Given the description of an element on the screen output the (x, y) to click on. 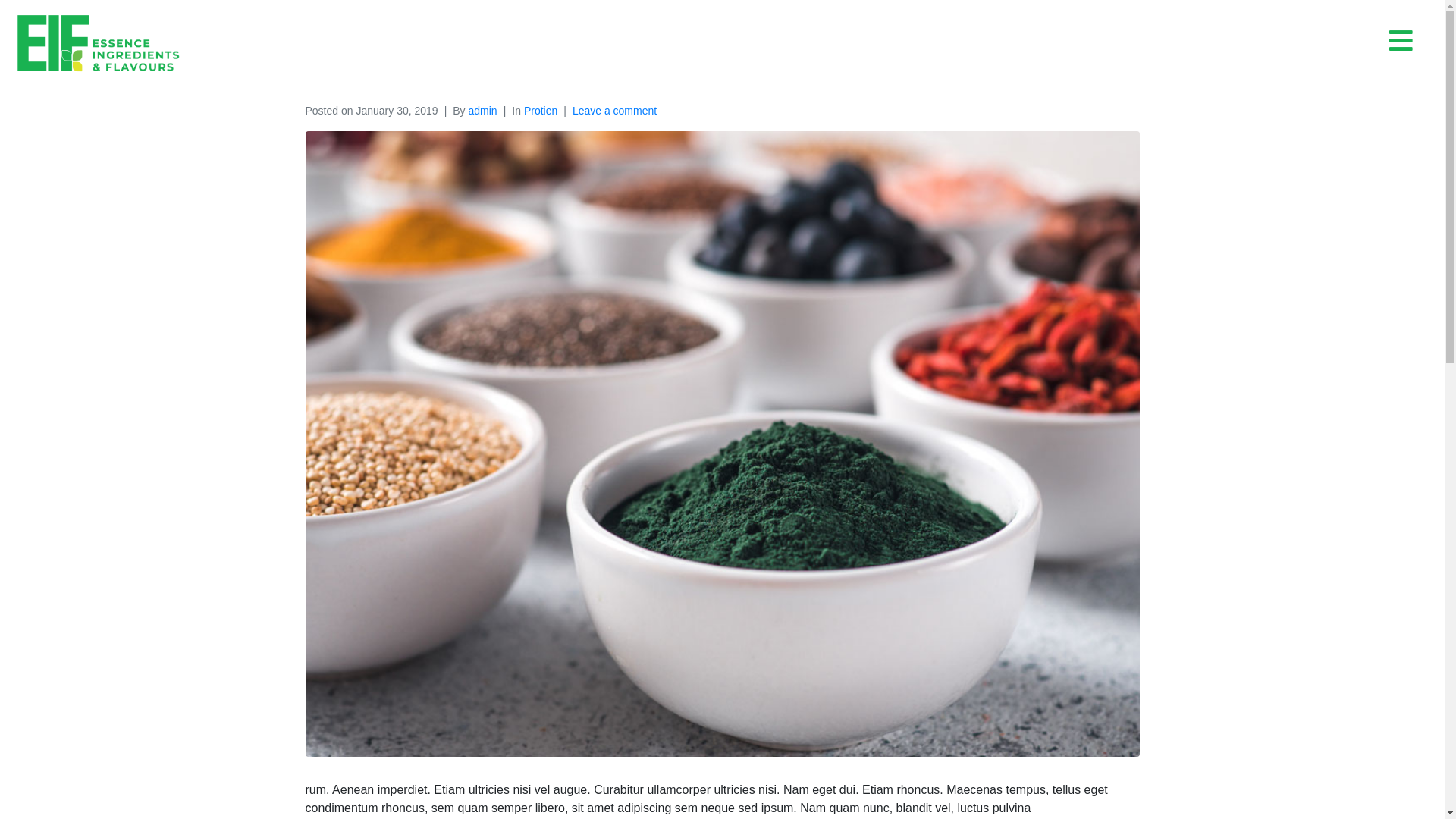
Home Element type: text (320, 62)
admin Element type: text (482, 110)
Protien Element type: text (540, 110)
Protien Element type: text (372, 62)
Leave a comment Element type: text (614, 110)
